Given the description of an element on the screen output the (x, y) to click on. 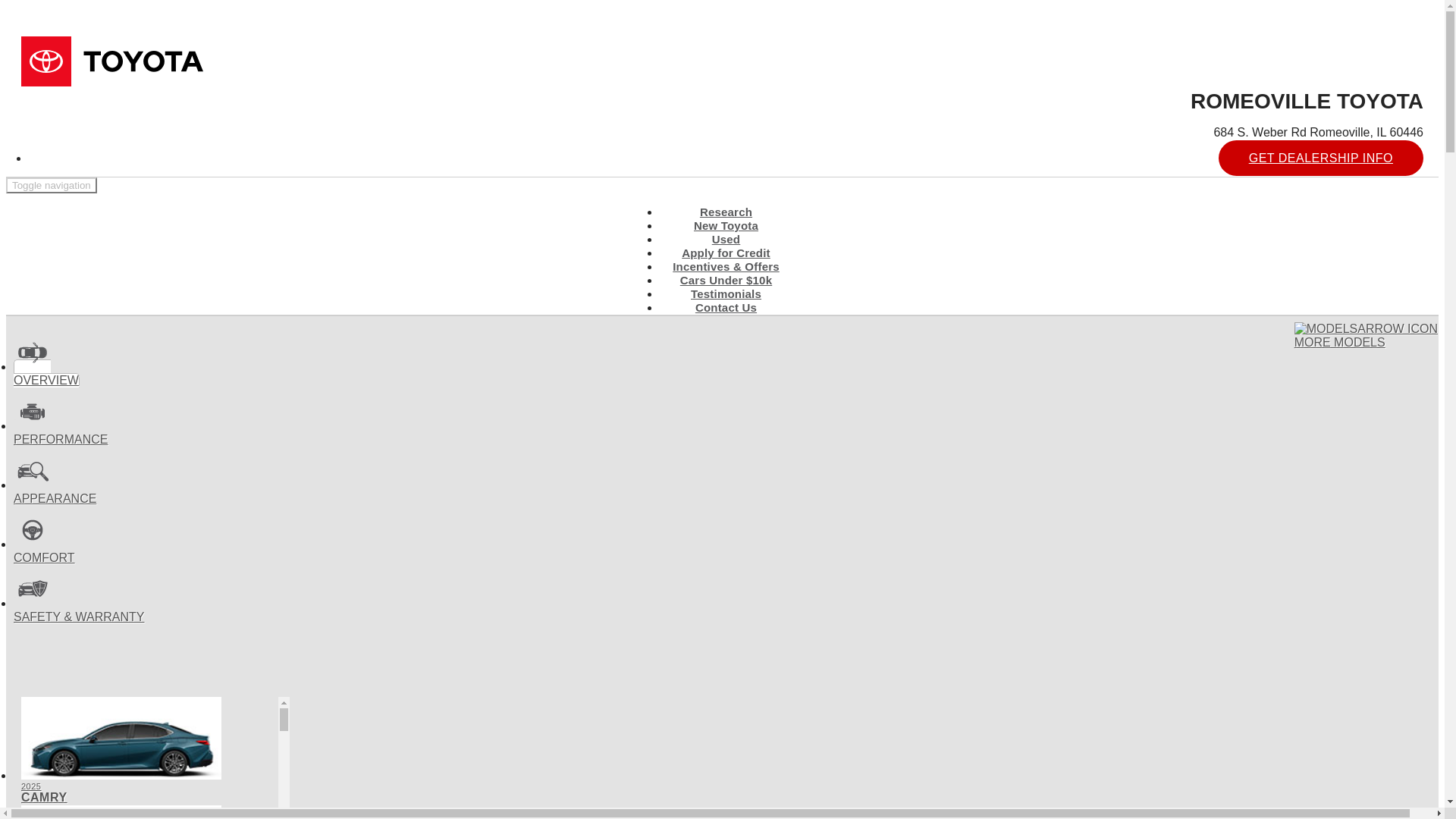
OVERVIEW (46, 373)
MORE MODELS (1366, 335)
APPEARANCE (55, 491)
COMFORT (44, 551)
Apply for Credit (725, 252)
Contact Us (726, 307)
Toggle navigation (51, 185)
GET DEALERSHIP INFO (145, 812)
Used (1320, 158)
